Given the description of an element on the screen output the (x, y) to click on. 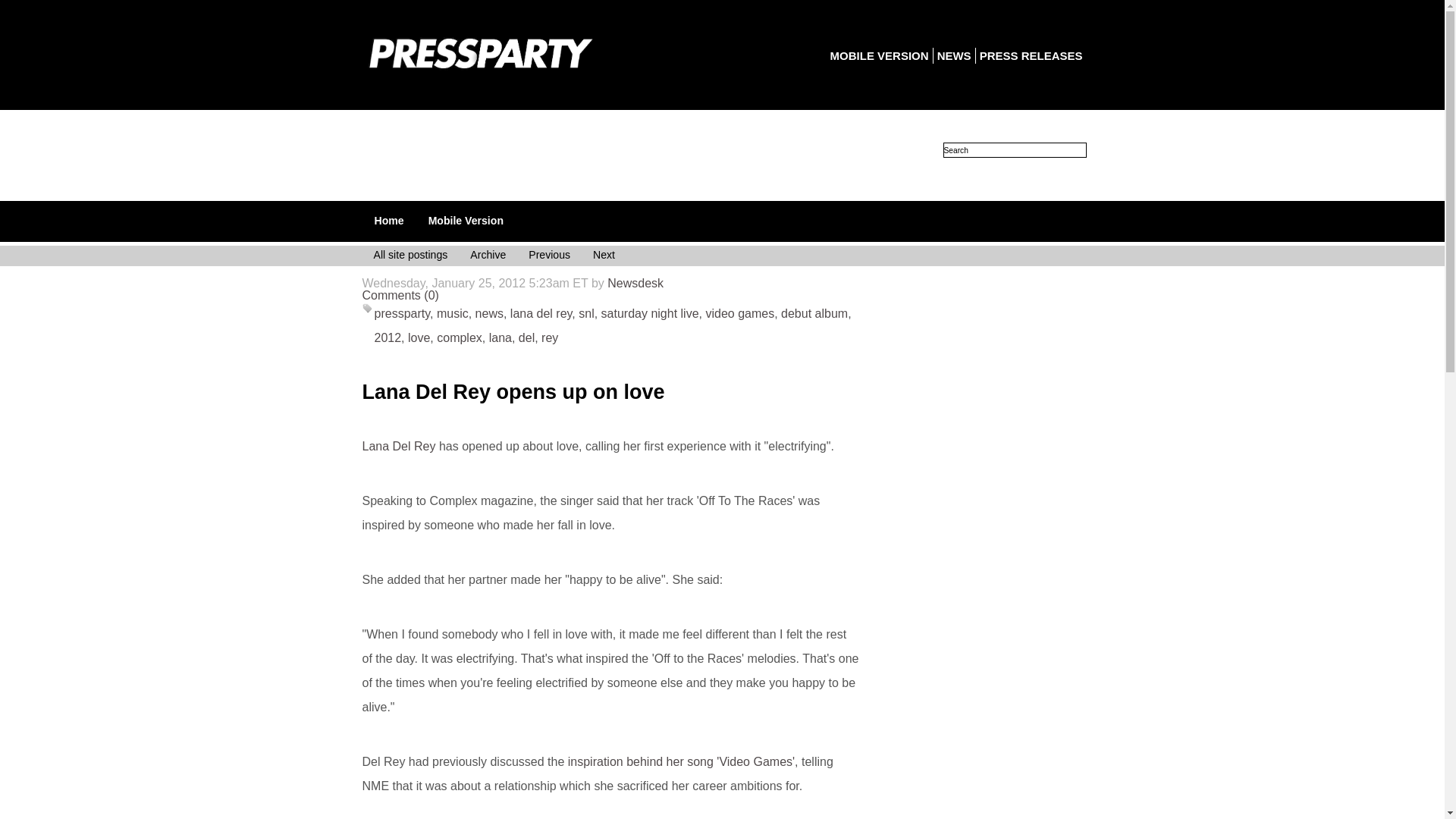
lana del rey (541, 313)
Mobile Version (465, 220)
NEWS (954, 55)
love (418, 337)
MOBILE VERSION (878, 55)
inspiration behind her song 'Video Games' (680, 761)
Search (1014, 150)
snl (586, 313)
All site postings (409, 255)
lana (500, 337)
